Given the description of an element on the screen output the (x, y) to click on. 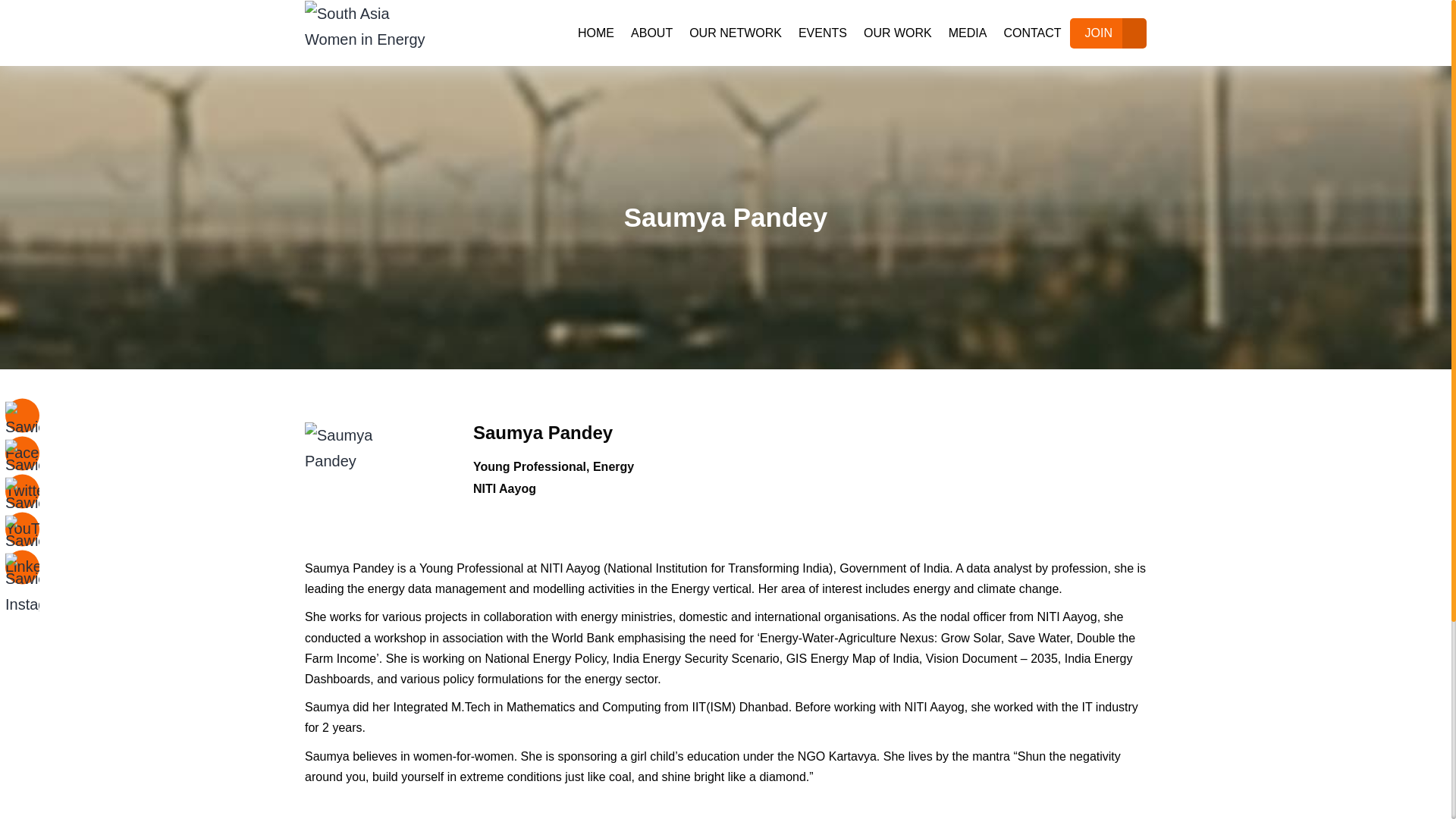
JOIN (1098, 33)
HOME (596, 33)
MEDIA (967, 33)
ABOUT (652, 33)
CONTACT (1031, 33)
OUR WORK (898, 33)
OUR NETWORK (735, 33)
EVENTS (823, 33)
